Given the description of an element on the screen output the (x, y) to click on. 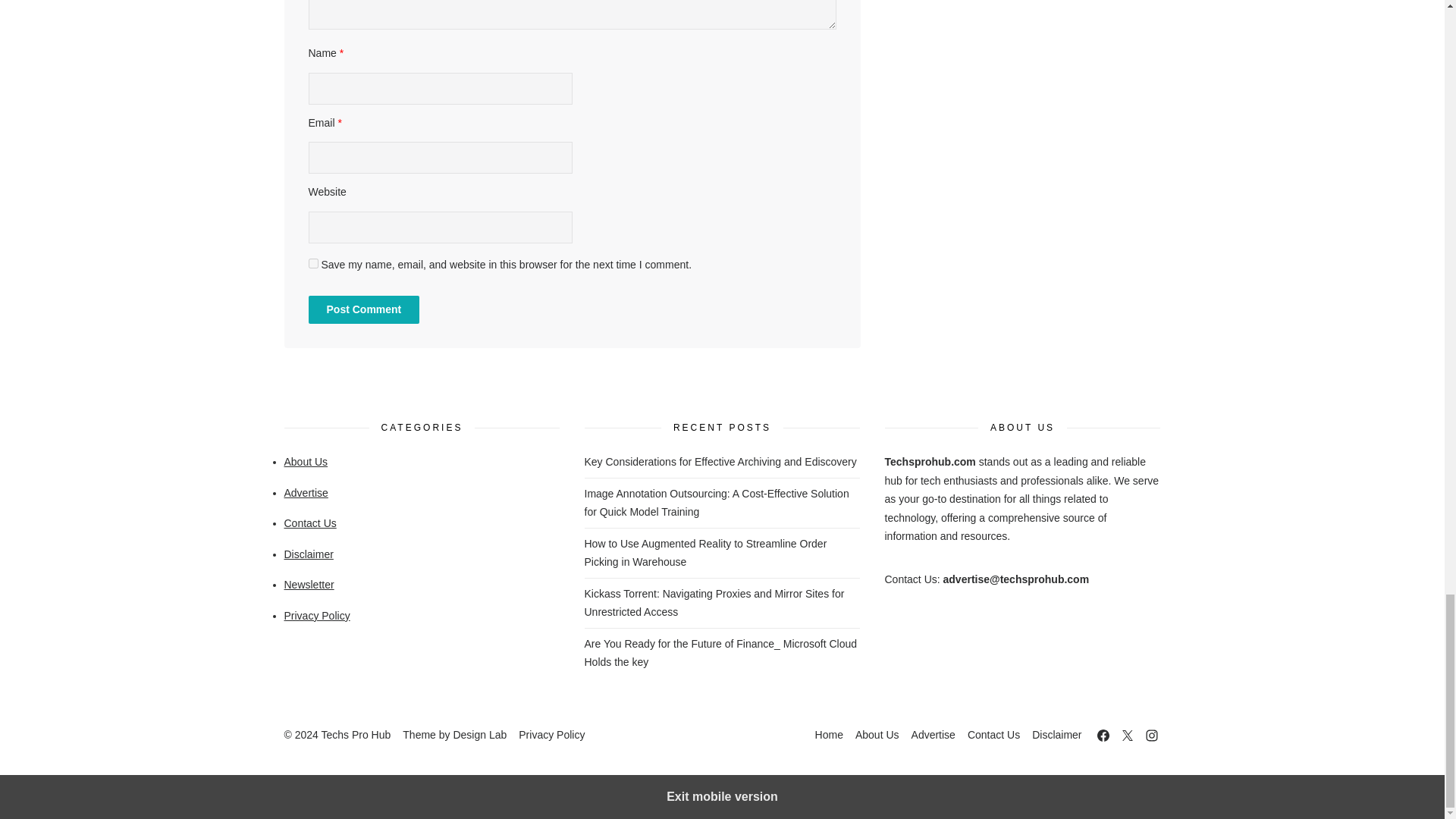
Post Comment (363, 309)
yes (312, 263)
